Given the description of an element on the screen output the (x, y) to click on. 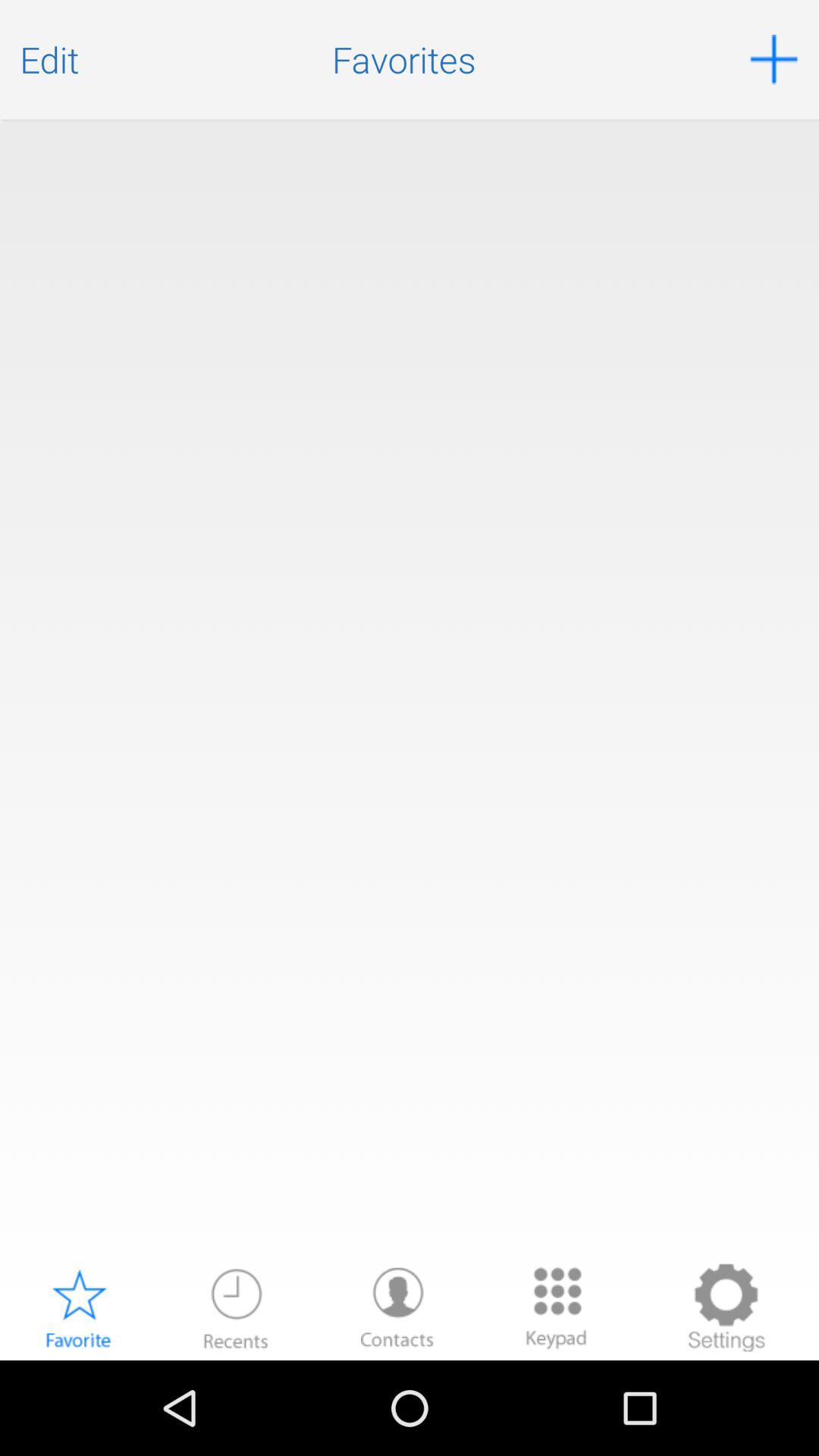
open keypad (556, 1307)
